Given the description of an element on the screen output the (x, y) to click on. 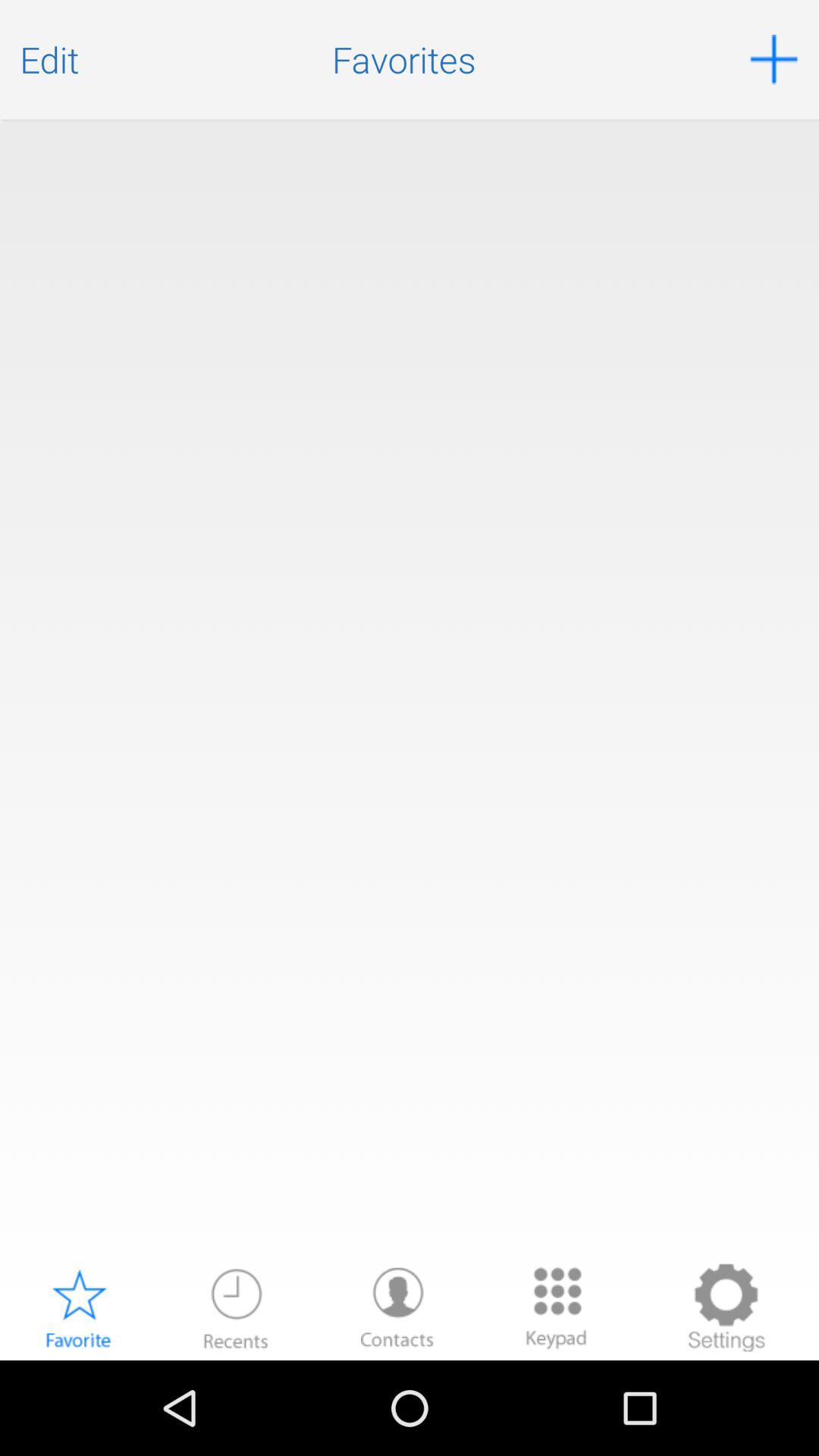
open keypad (556, 1307)
